Given the description of an element on the screen output the (x, y) to click on. 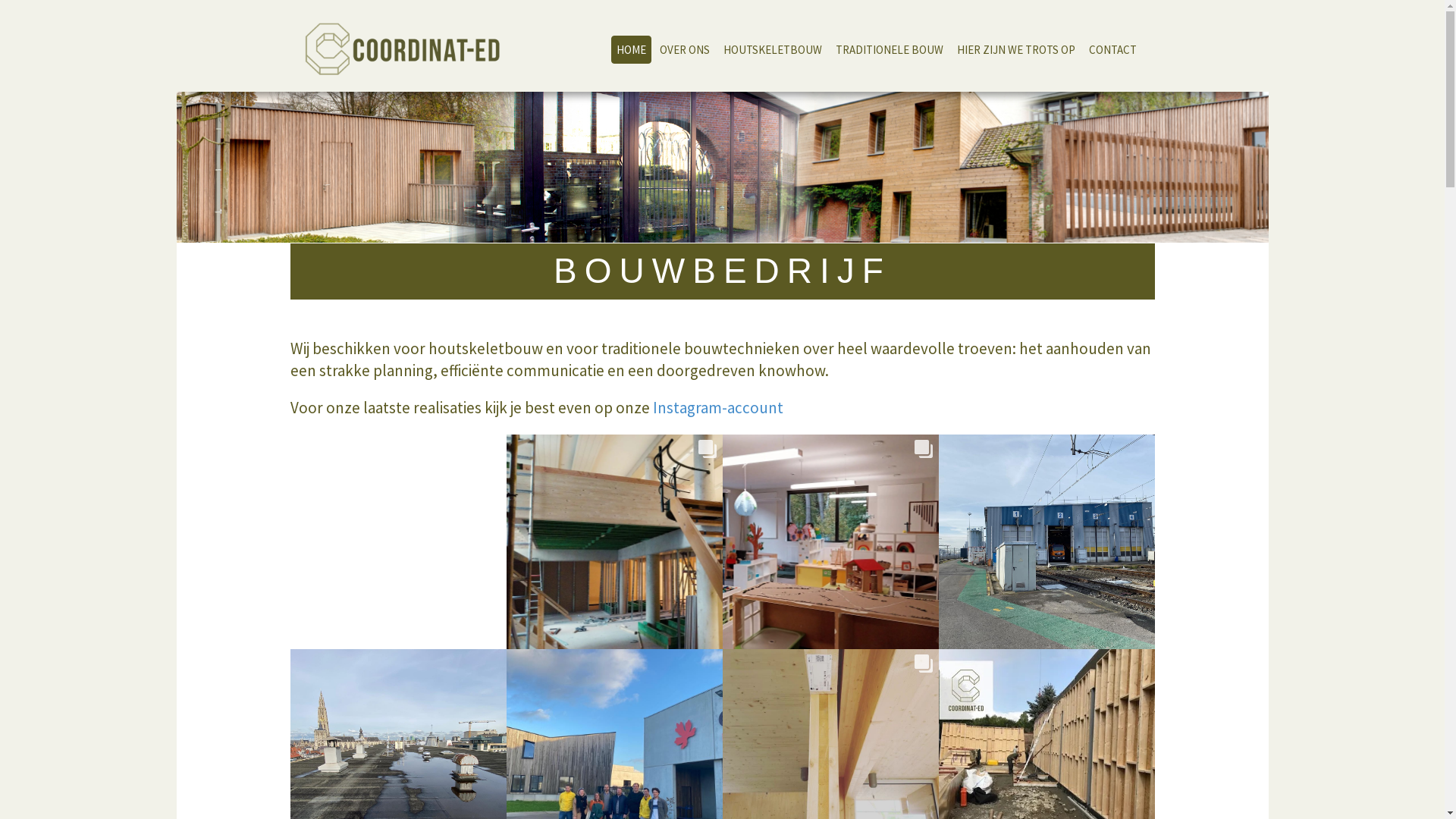
HOUTSKELETBOUW Element type: text (771, 49)
HIER ZIJN WE TROTS OP Element type: text (1014, 49)
HOME Element type: text (631, 49)
OVER ONS Element type: text (683, 49)
TRADITIONELE BOUW Element type: text (888, 49)
CONTACT Element type: text (1111, 49)
Instagram-account Element type: text (717, 407)
